Given the description of an element on the screen output the (x, y) to click on. 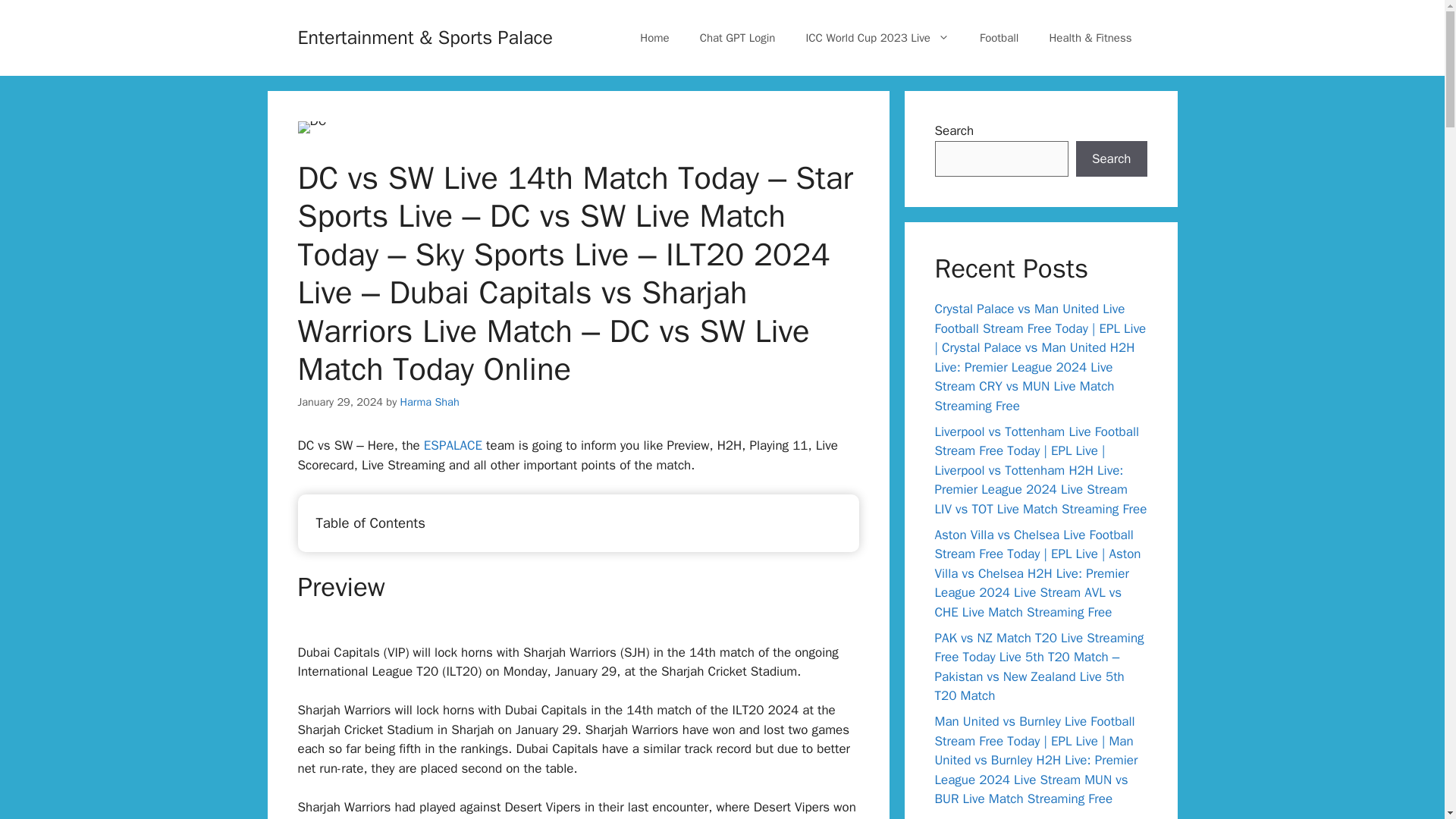
ICC World Cup 2023 Live (876, 37)
ESPALACE (452, 445)
View all posts by Harma Shah (430, 401)
Harma Shah (430, 401)
Chat GPT Login (737, 37)
Home (654, 37)
Football (998, 37)
